Given the description of an element on the screen output the (x, y) to click on. 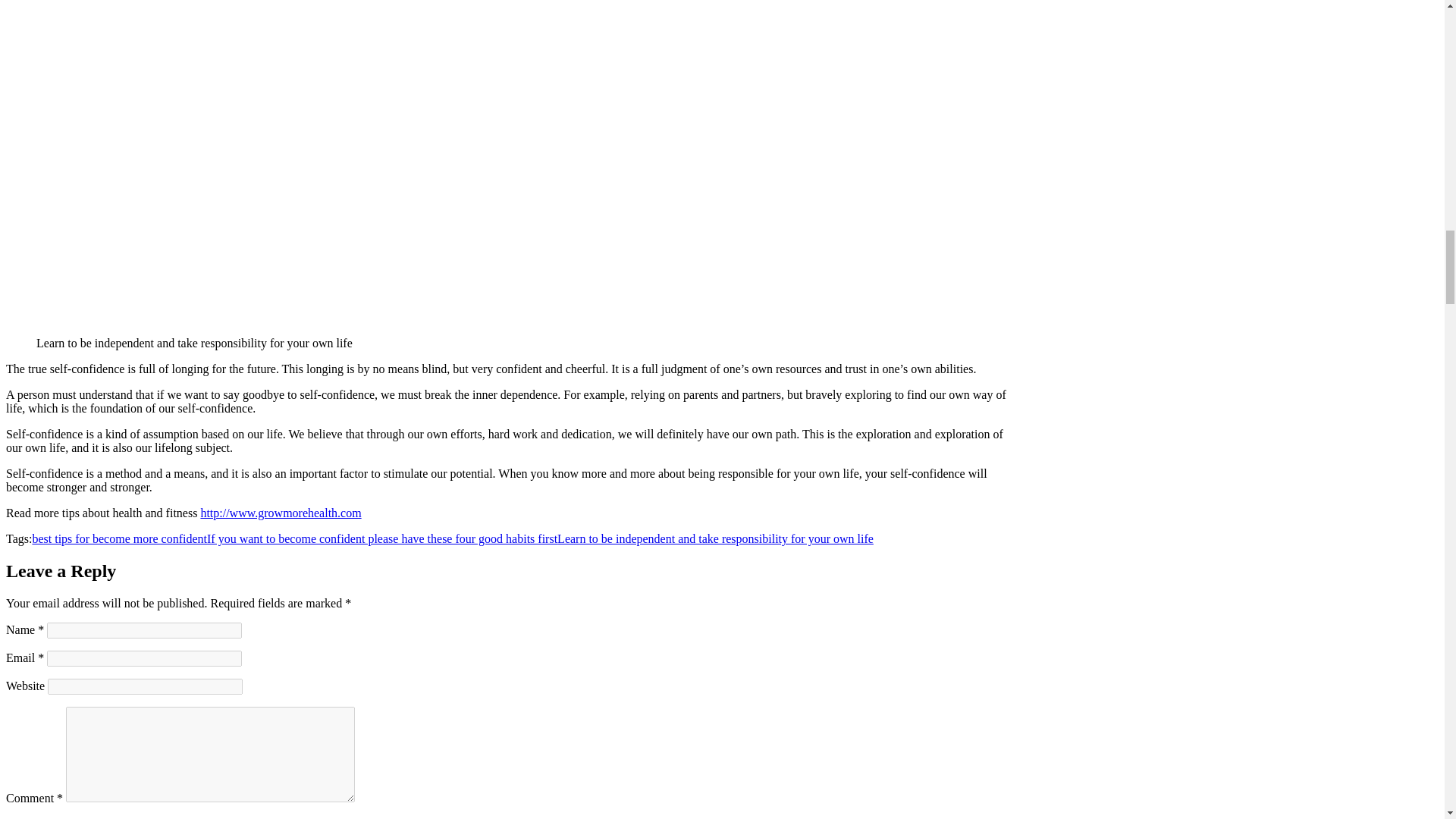
best tips for become more confident (119, 538)
